Given the description of an element on the screen output the (x, y) to click on. 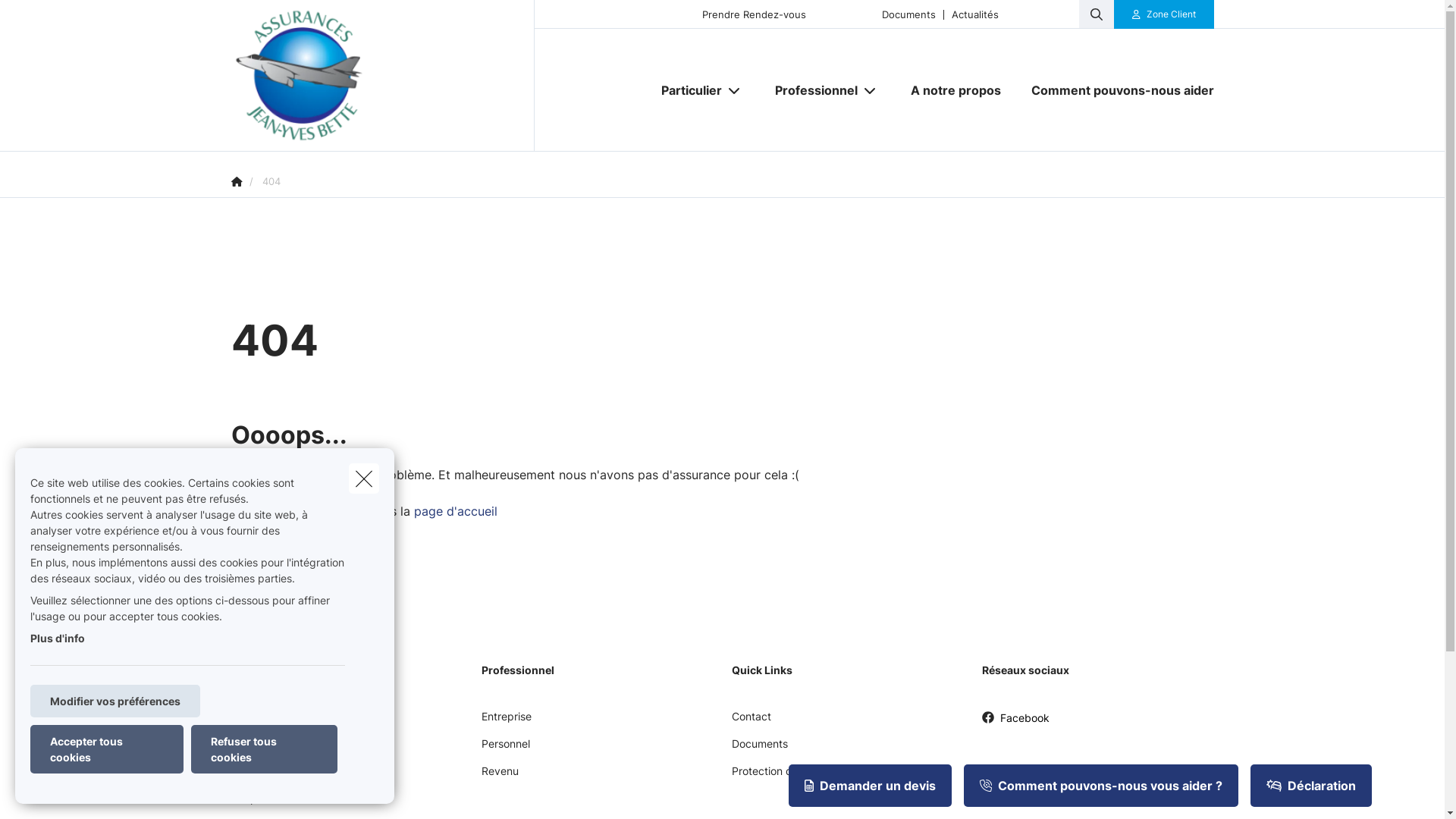
Prendre Rendez-vous Element type: text (753, 13)
Zone Client Element type: text (1163, 14)
Facebook Element type: text (1014, 722)
Rechercher Element type: text (54, 18)
Comment pouvons-nous vous aider ? Element type: text (1100, 785)
Particulier Element type: text (685, 89)
Demander un devis Element type: text (869, 785)
Protection du client Element type: text (779, 776)
Contact Element type: text (750, 721)
Famille et protection juridique Element type: text (303, 776)
Documents Element type: text (759, 748)
Professionnel Element type: text (810, 89)
A notre propos Element type: text (954, 89)
Refuser tous cookies Element type: text (264, 748)
page d'accueil Element type: text (455, 510)
Entreprise Element type: text (505, 721)
Hospitalisation Element type: text (266, 803)
Accepter tous cookies Element type: text (106, 748)
Personnel Element type: text (504, 748)
Plus d'info Element type: text (57, 637)
Revenu Element type: text (498, 776)
Documents Element type: text (908, 13)
Habitation Element type: text (255, 748)
Comment pouvons-nous aider Element type: text (1115, 89)
